Given the description of an element on the screen output the (x, y) to click on. 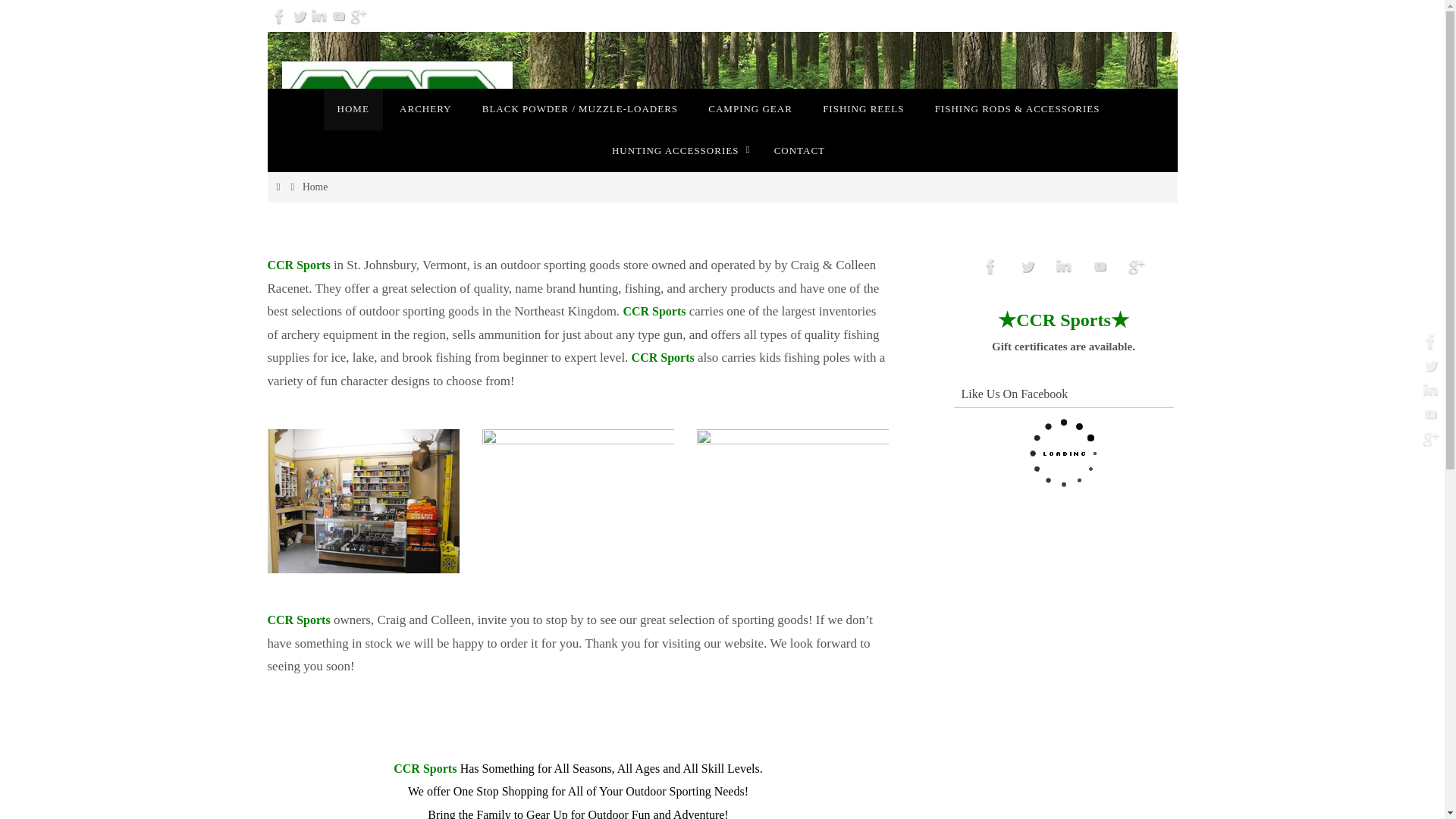
ARCHERY (424, 109)
HOME (352, 109)
HUNTING ACCESSORIES (677, 150)
FISHING REELS (863, 109)
CAMPING GEAR (750, 109)
LinkedIn (317, 15)
Facebook (991, 266)
Twitter (298, 15)
YouTube (338, 15)
CONTACT (799, 150)
